Given the description of an element on the screen output the (x, y) to click on. 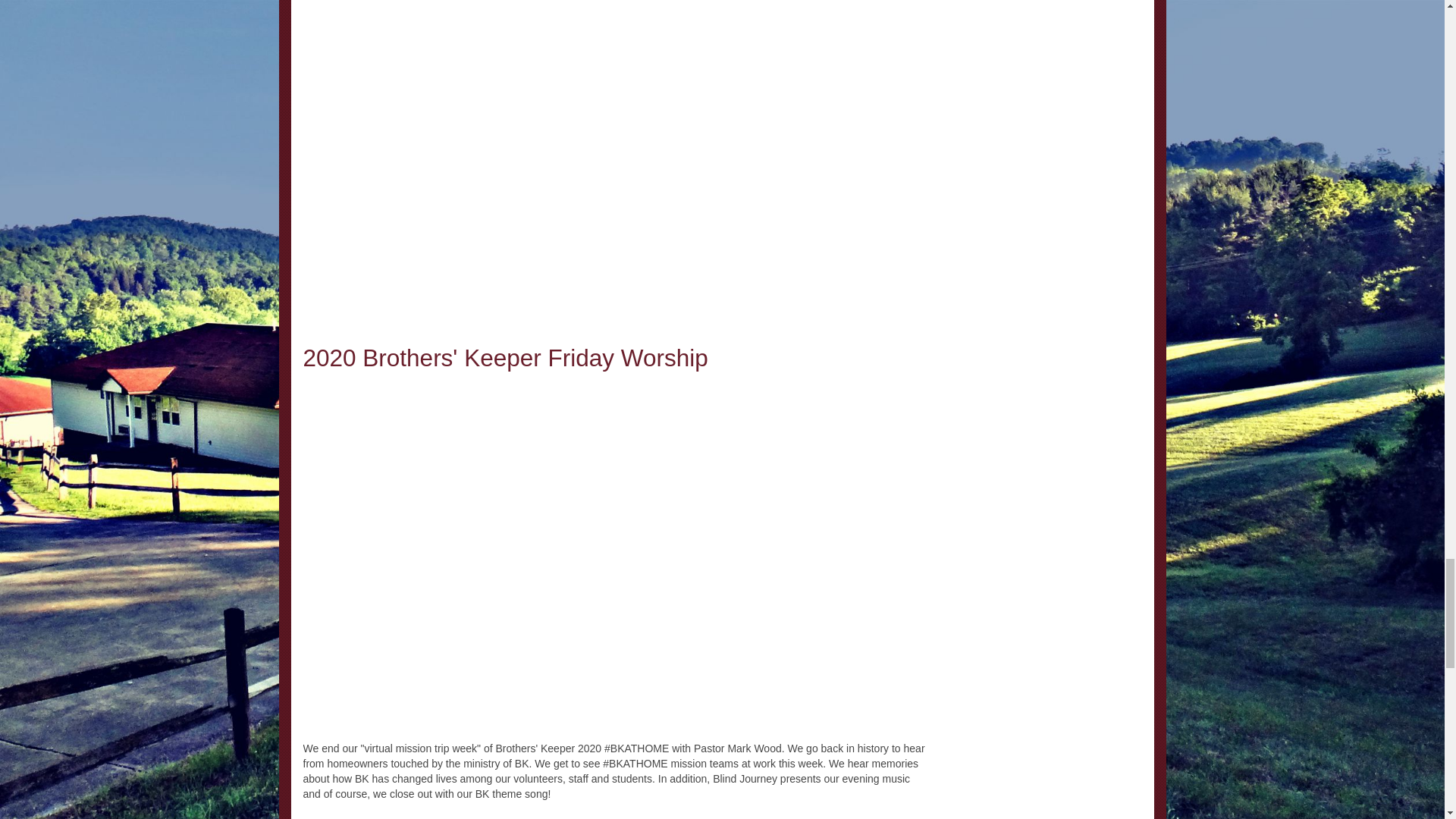
2020 Brothers' Keeper Friday Worship (504, 357)
